Given the description of an element on the screen output the (x, y) to click on. 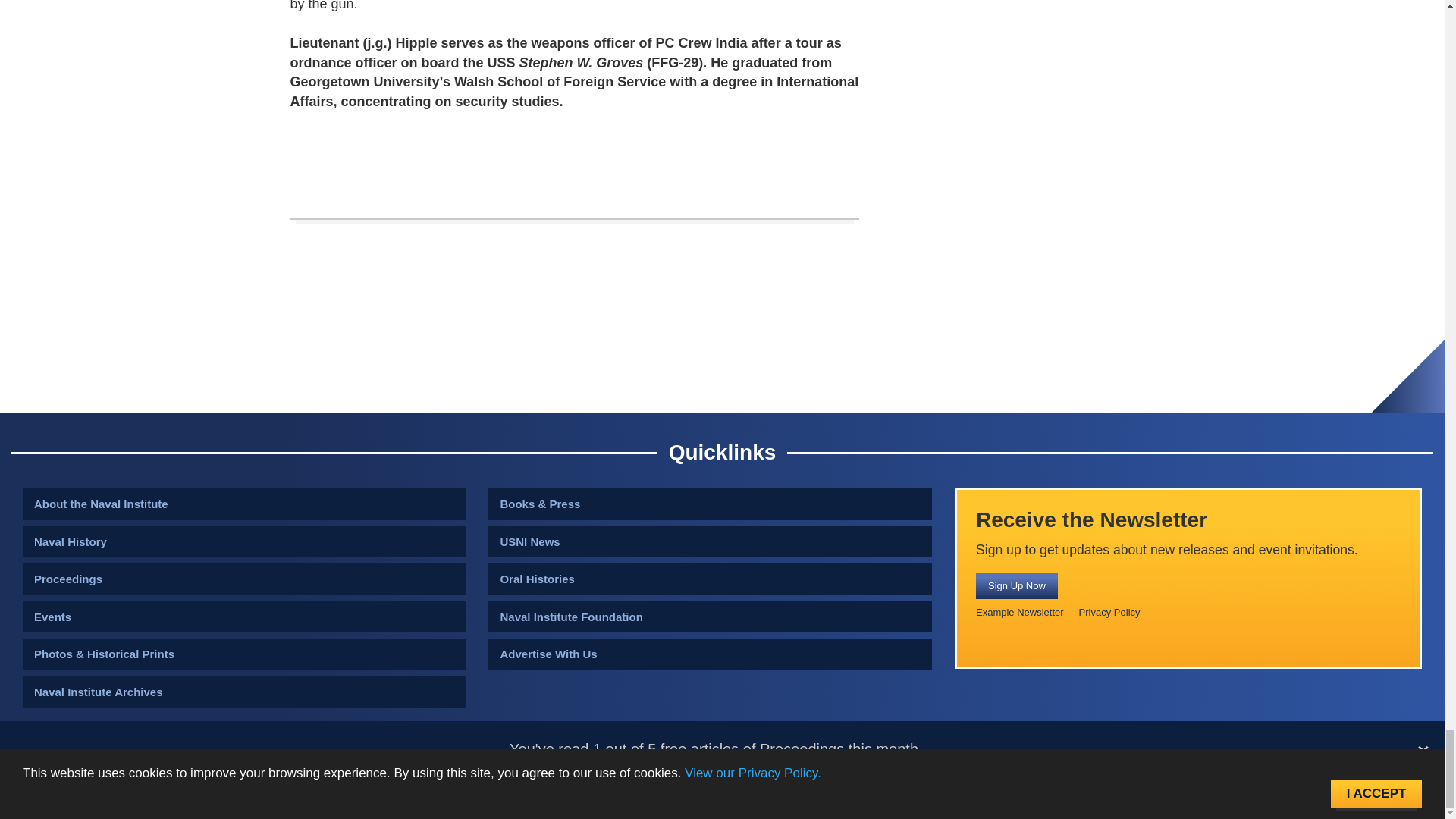
3rd party ad content (721, 358)
Advertise With Us (709, 653)
3rd party ad content (574, 146)
